Given the description of an element on the screen output the (x, y) to click on. 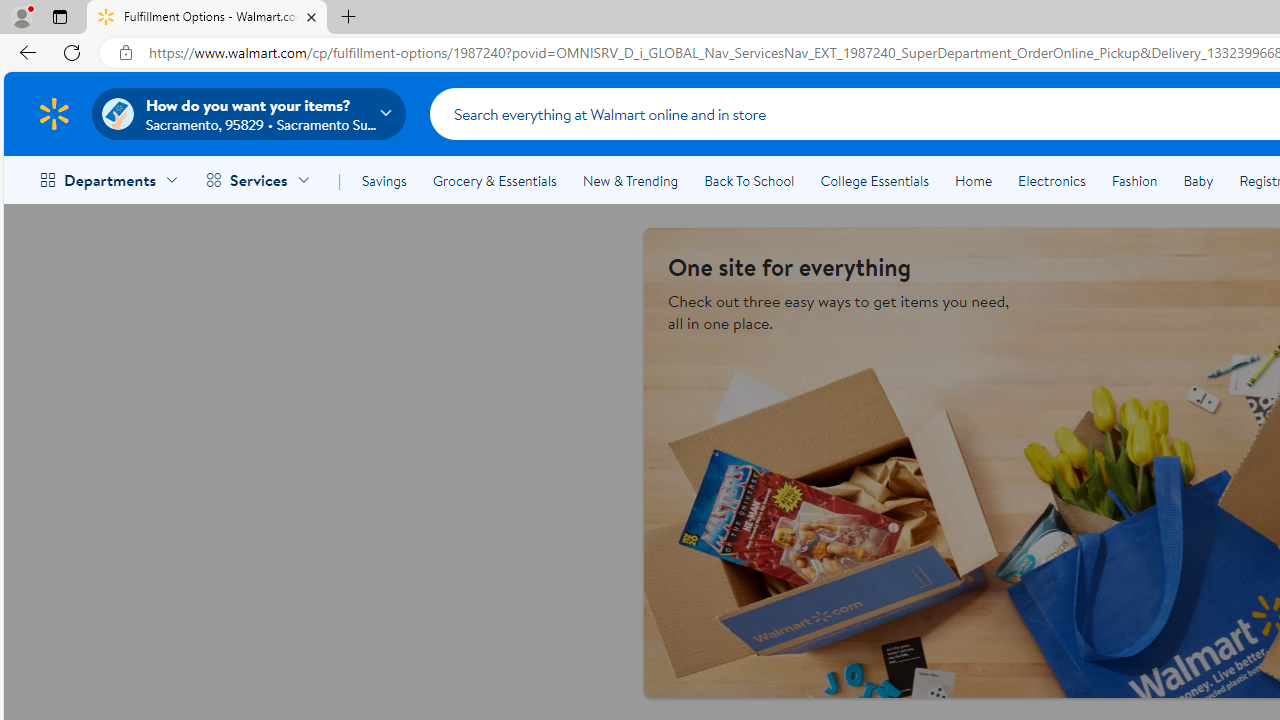
Baby (1197, 180)
College Essentials (874, 180)
Electronics (1051, 180)
Baby (1197, 180)
Fashion (1134, 180)
Savings (384, 180)
